Given the description of an element on the screen output the (x, y) to click on. 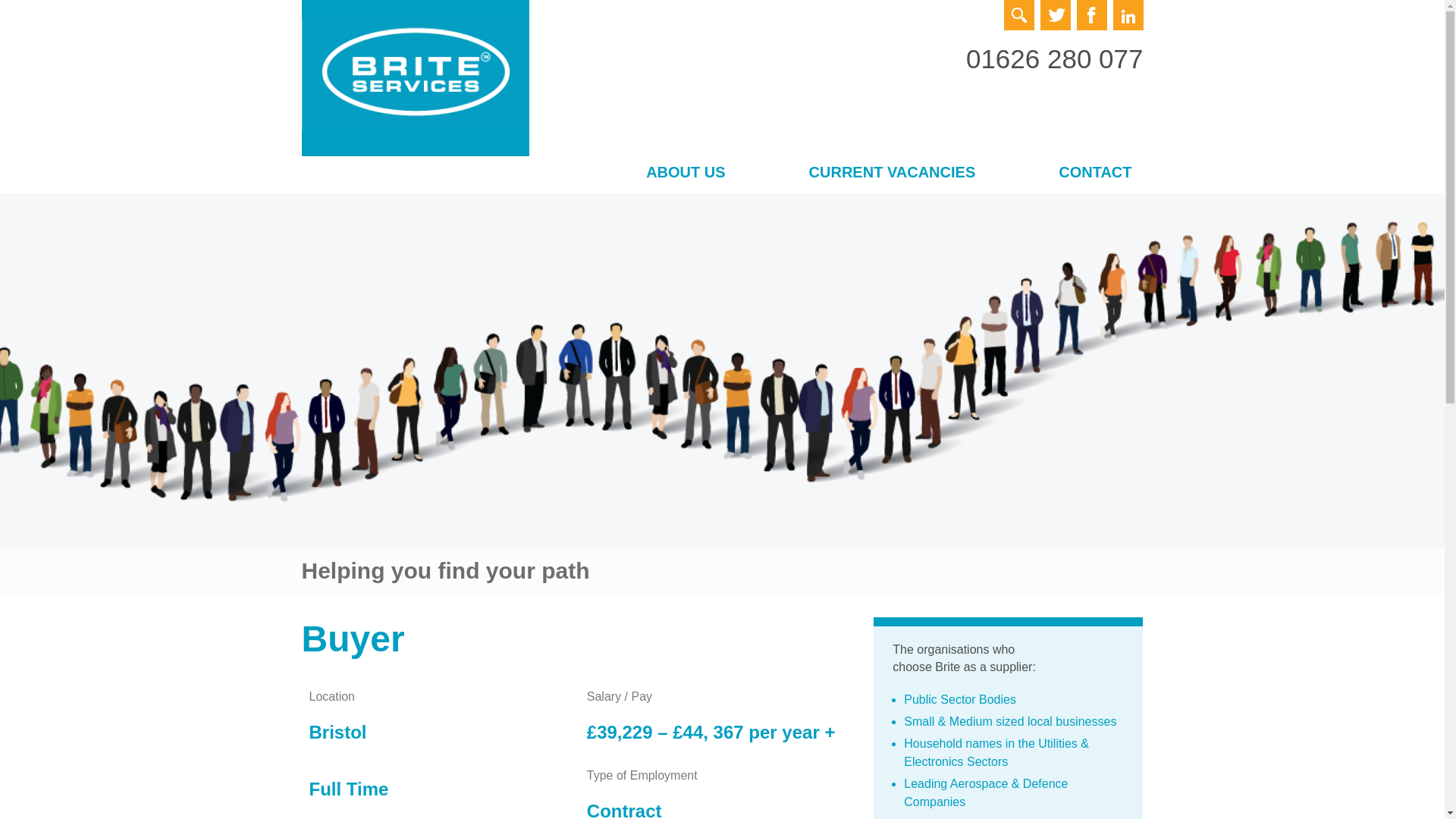
CONTACT (1094, 173)
Current Vacancies (892, 173)
Contact (1094, 173)
ABOUT US (685, 173)
About Us (685, 173)
CURRENT VACANCIES (892, 173)
